Given the description of an element on the screen output the (x, y) to click on. 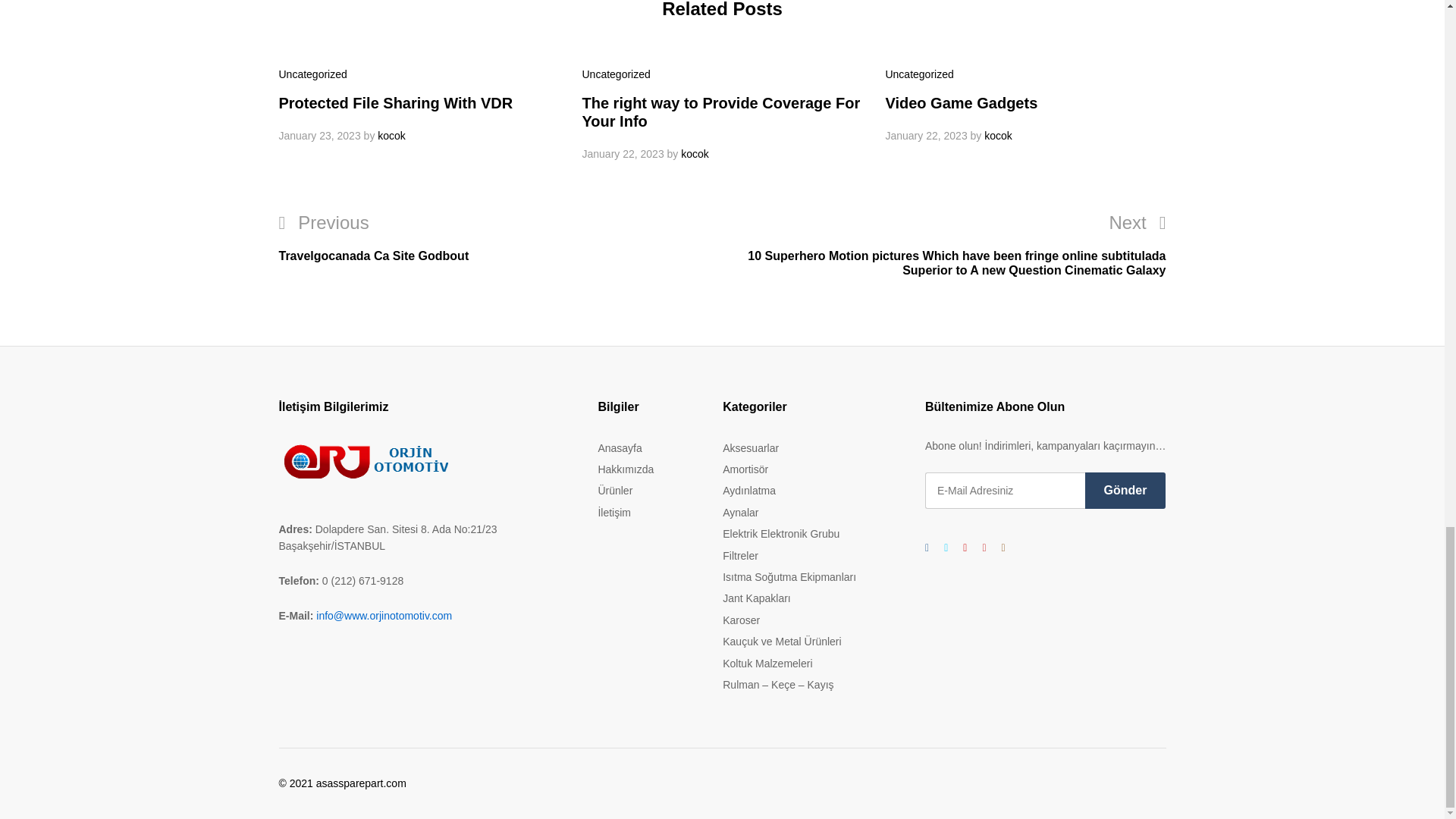
Facebook (926, 547)
Instagram (1001, 547)
Google Plus (964, 547)
Youtube (983, 547)
Twitter (945, 547)
